Given the description of an element on the screen output the (x, y) to click on. 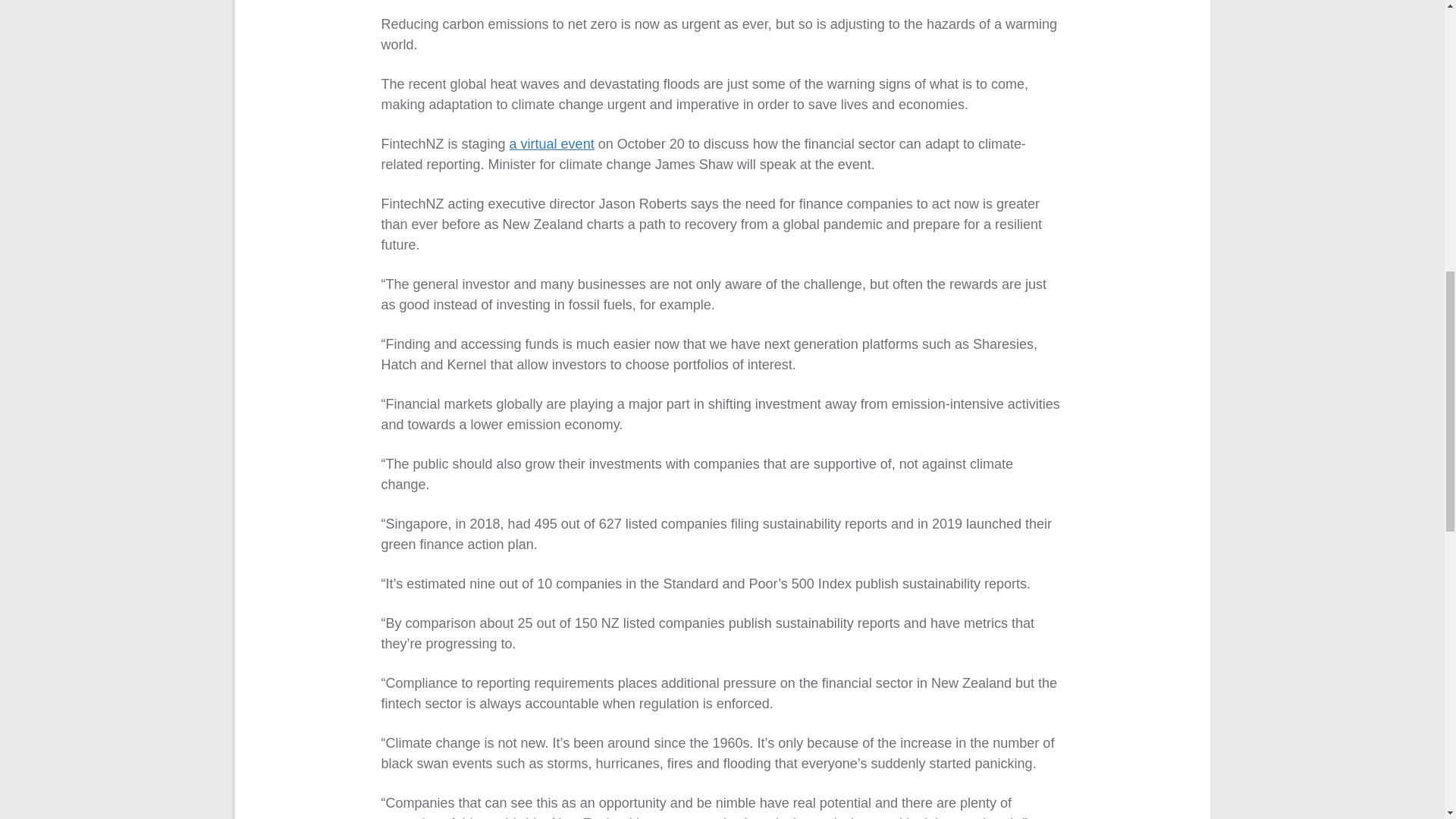
a virtual event (551, 143)
